Given the description of an element on the screen output the (x, y) to click on. 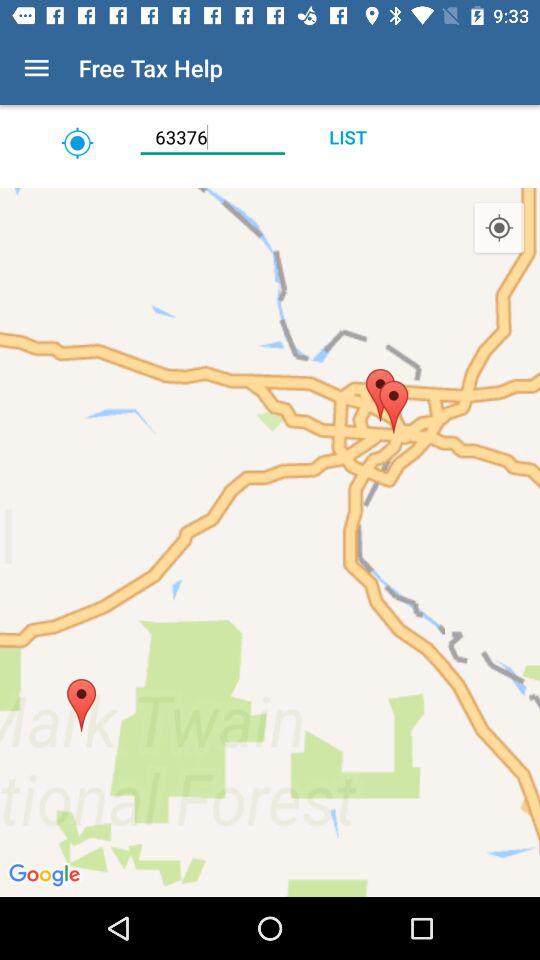
tap item below free tax help (212, 137)
